Given the description of an element on the screen output the (x, y) to click on. 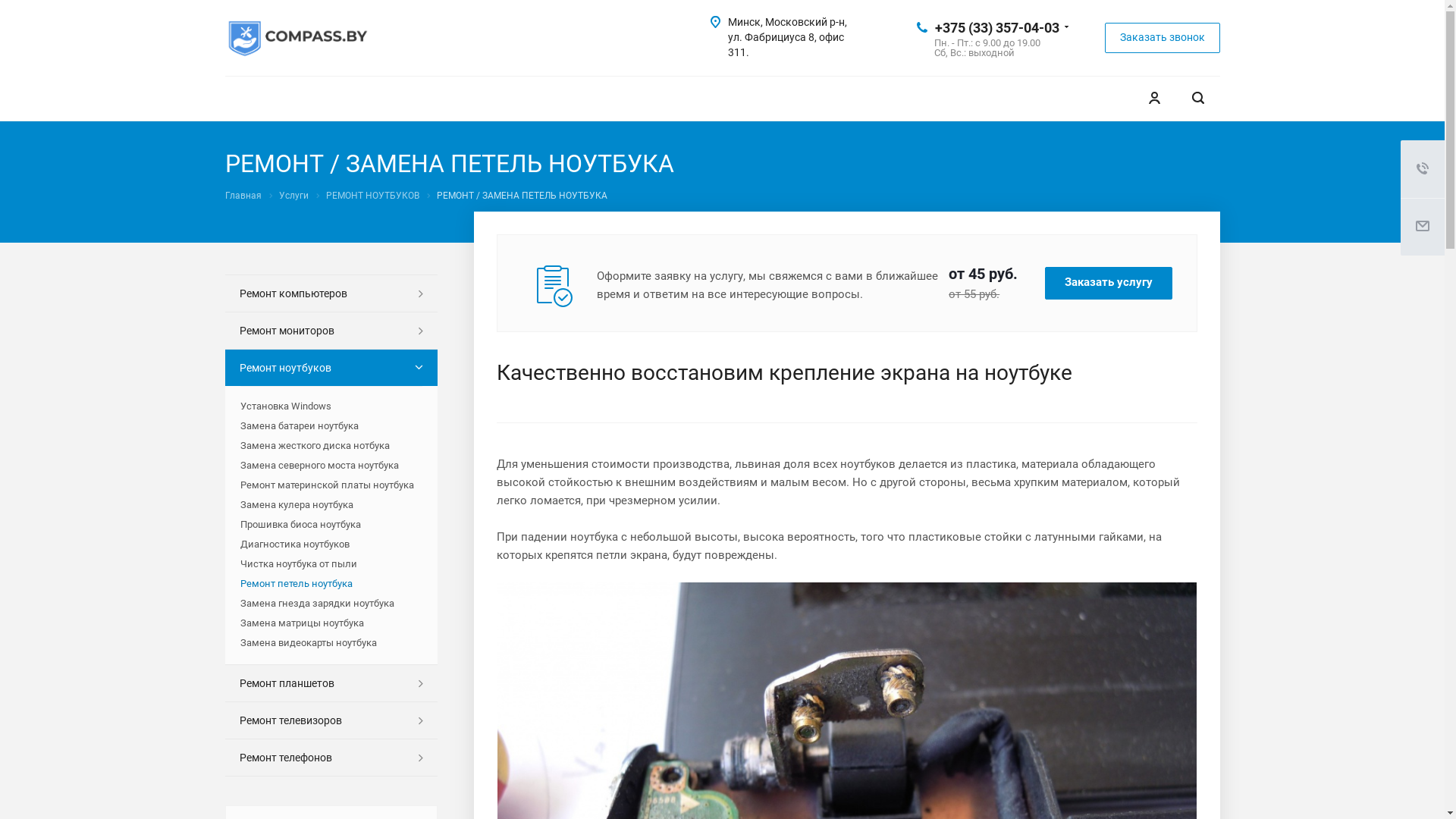
+375 (33) 357-04-03 Element type: text (996, 27)
compass.by Element type: hover (297, 38)
